Given the description of an element on the screen output the (x, y) to click on. 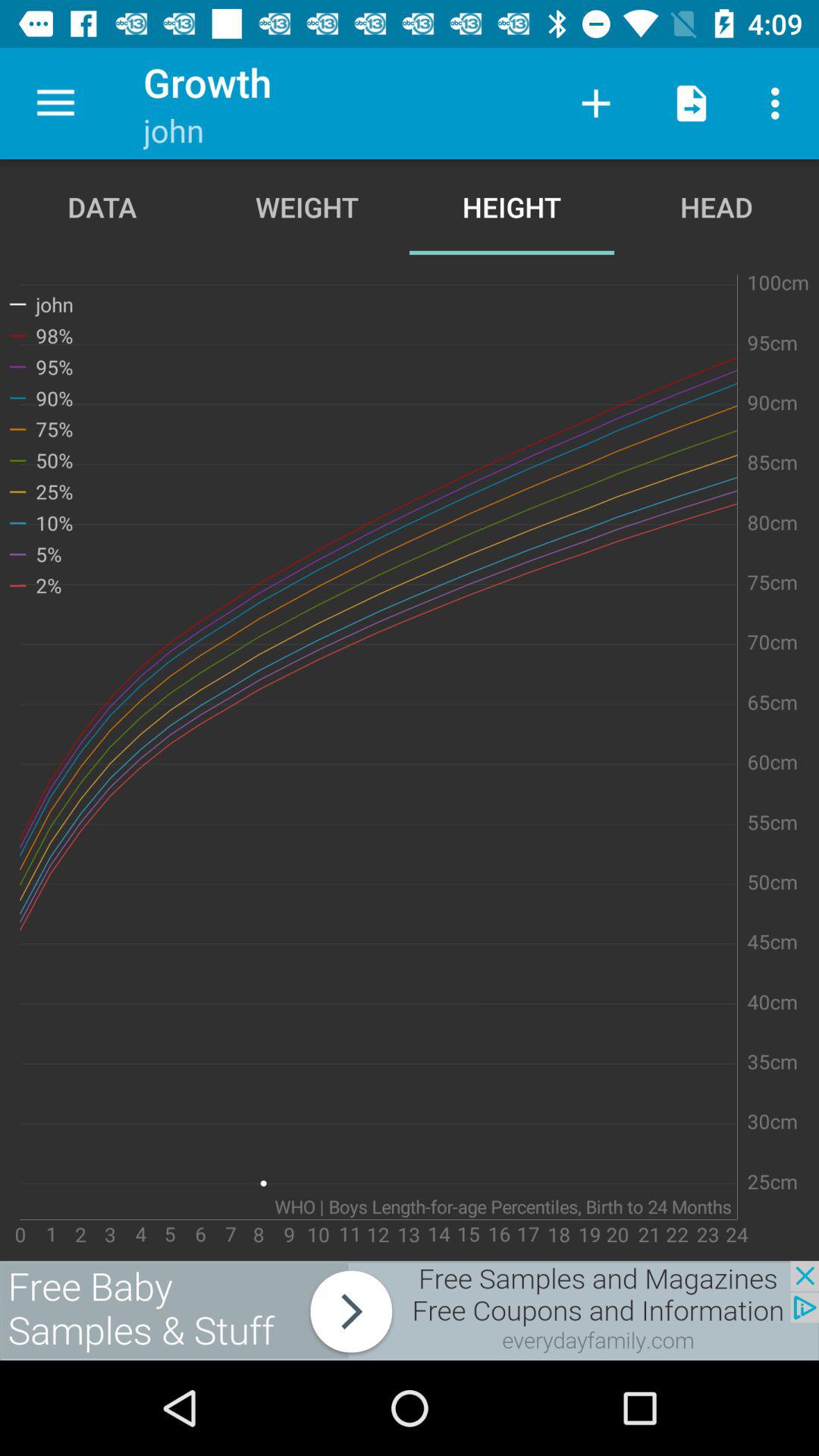
open advertisement (409, 1310)
